Given the description of an element on the screen output the (x, y) to click on. 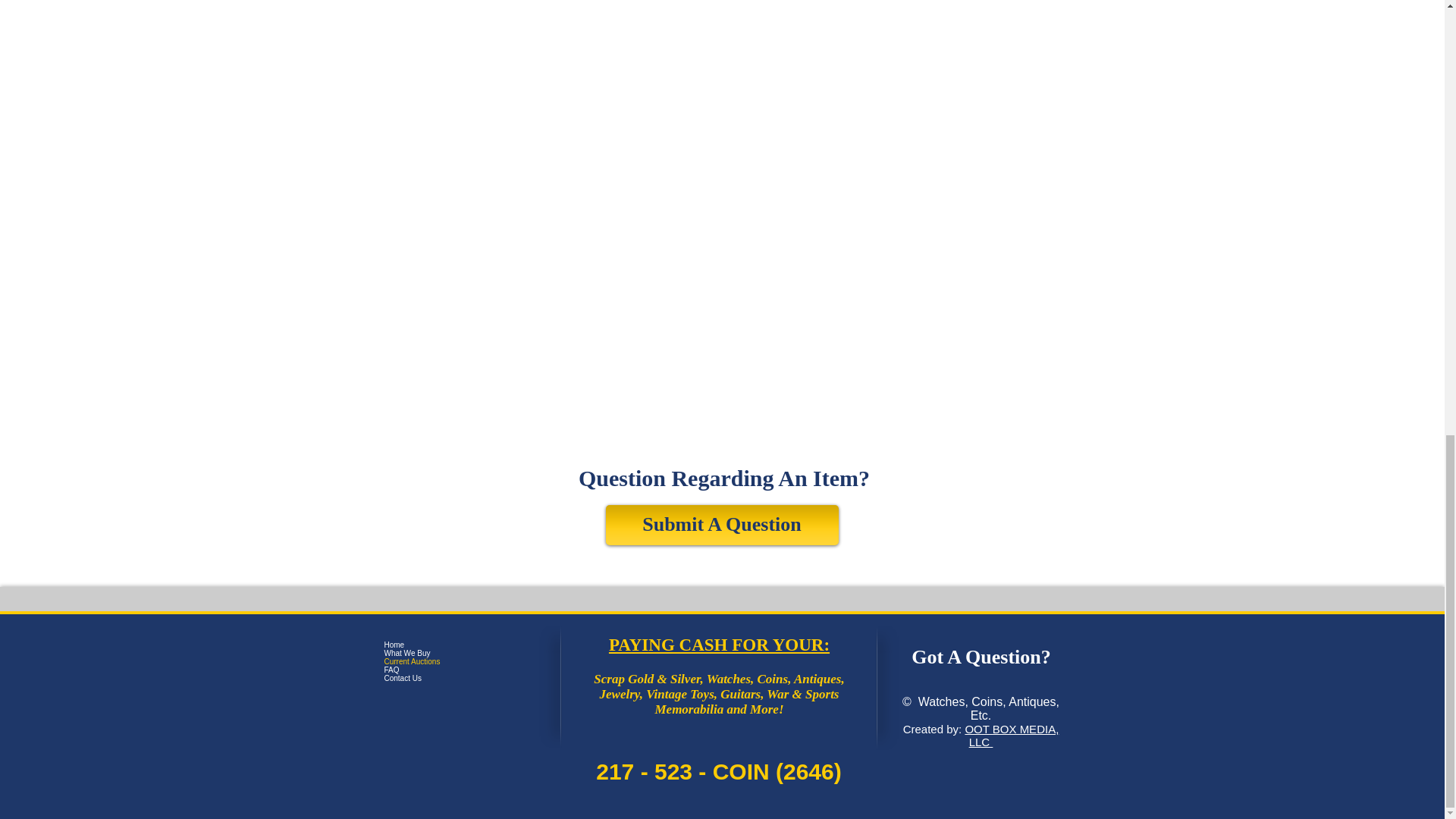
Current Auctions (459, 661)
Got A Question? (980, 657)
What We Buy (459, 653)
Submit A Question (721, 525)
Contact Us (459, 678)
Home (459, 644)
FAQ (459, 669)
OOT BOX MEDIA, LLC  (1010, 735)
